Given the description of an element on the screen output the (x, y) to click on. 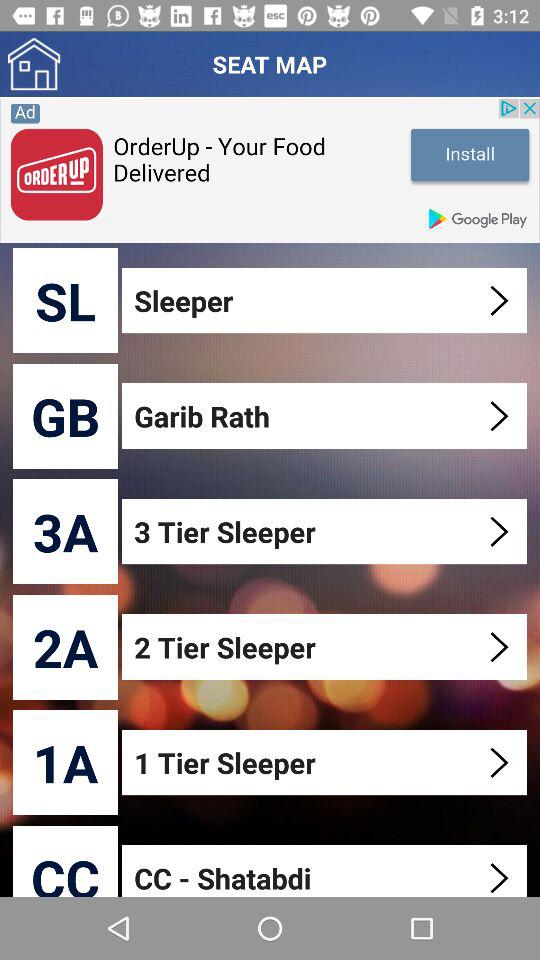
launch 1a icon (65, 762)
